Given the description of an element on the screen output the (x, y) to click on. 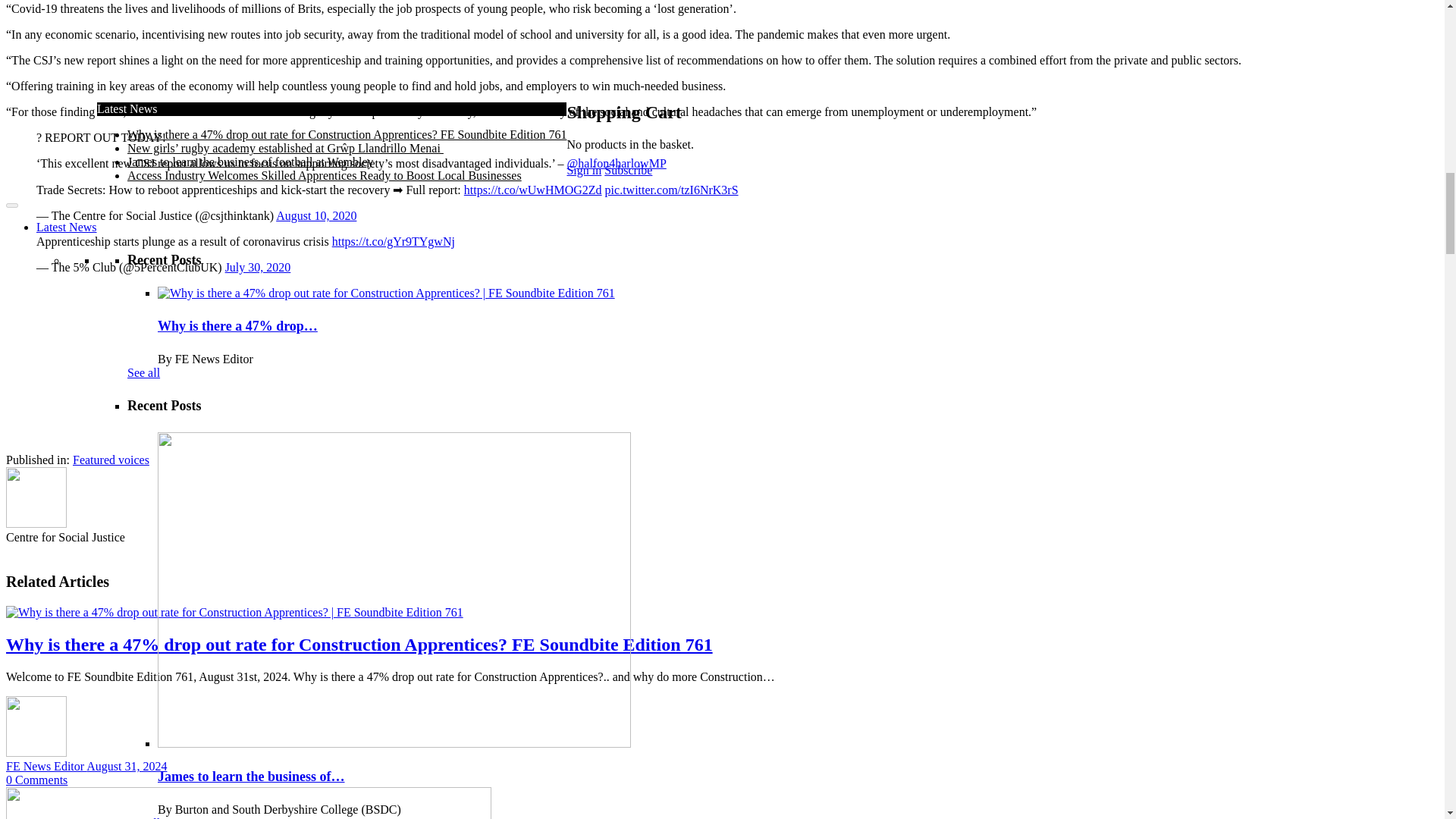
See all (144, 67)
See all (144, 212)
